Given the description of an element on the screen output the (x, y) to click on. 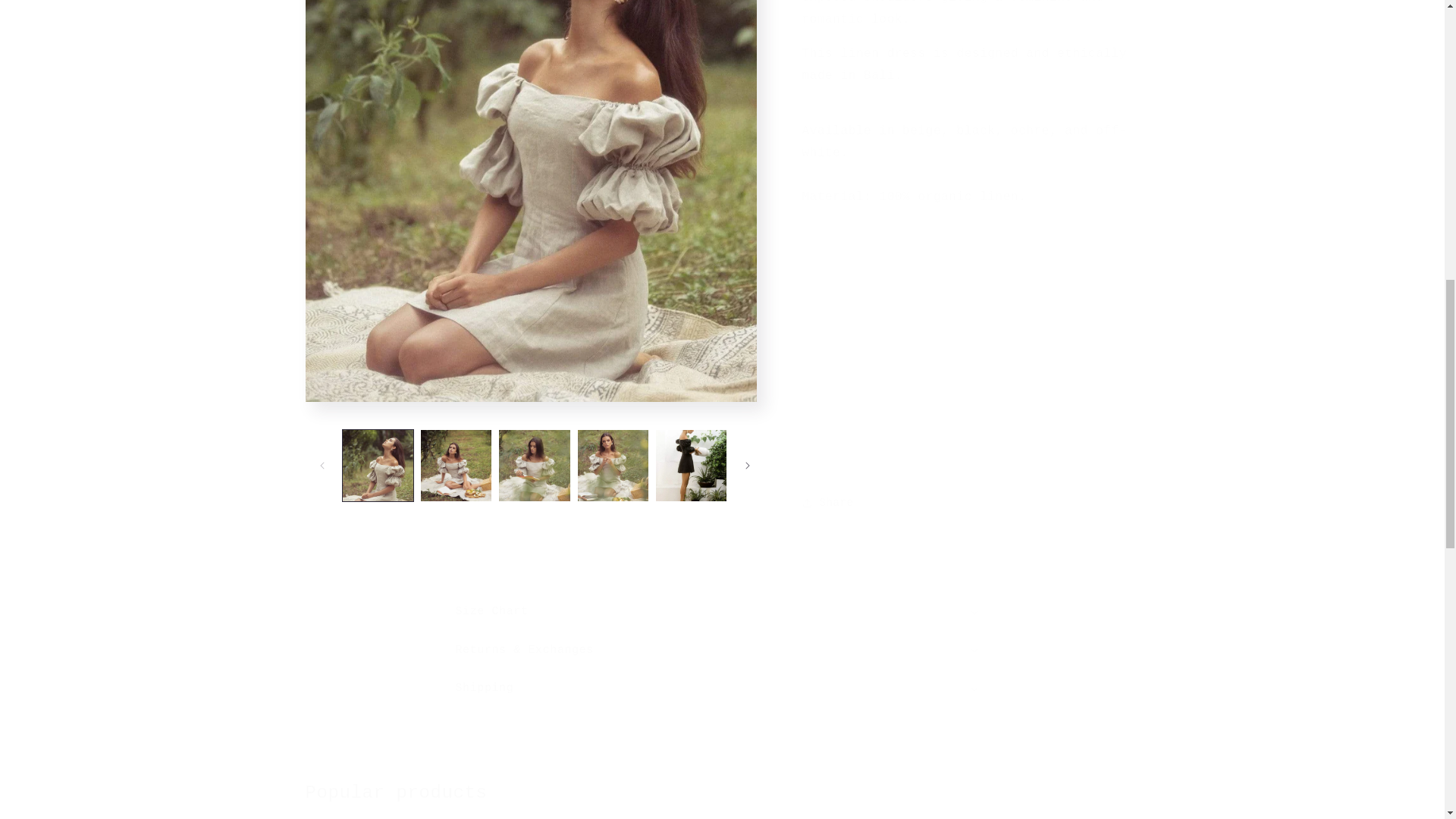
Popular products (721, 792)
